Given the description of an element on the screen output the (x, y) to click on. 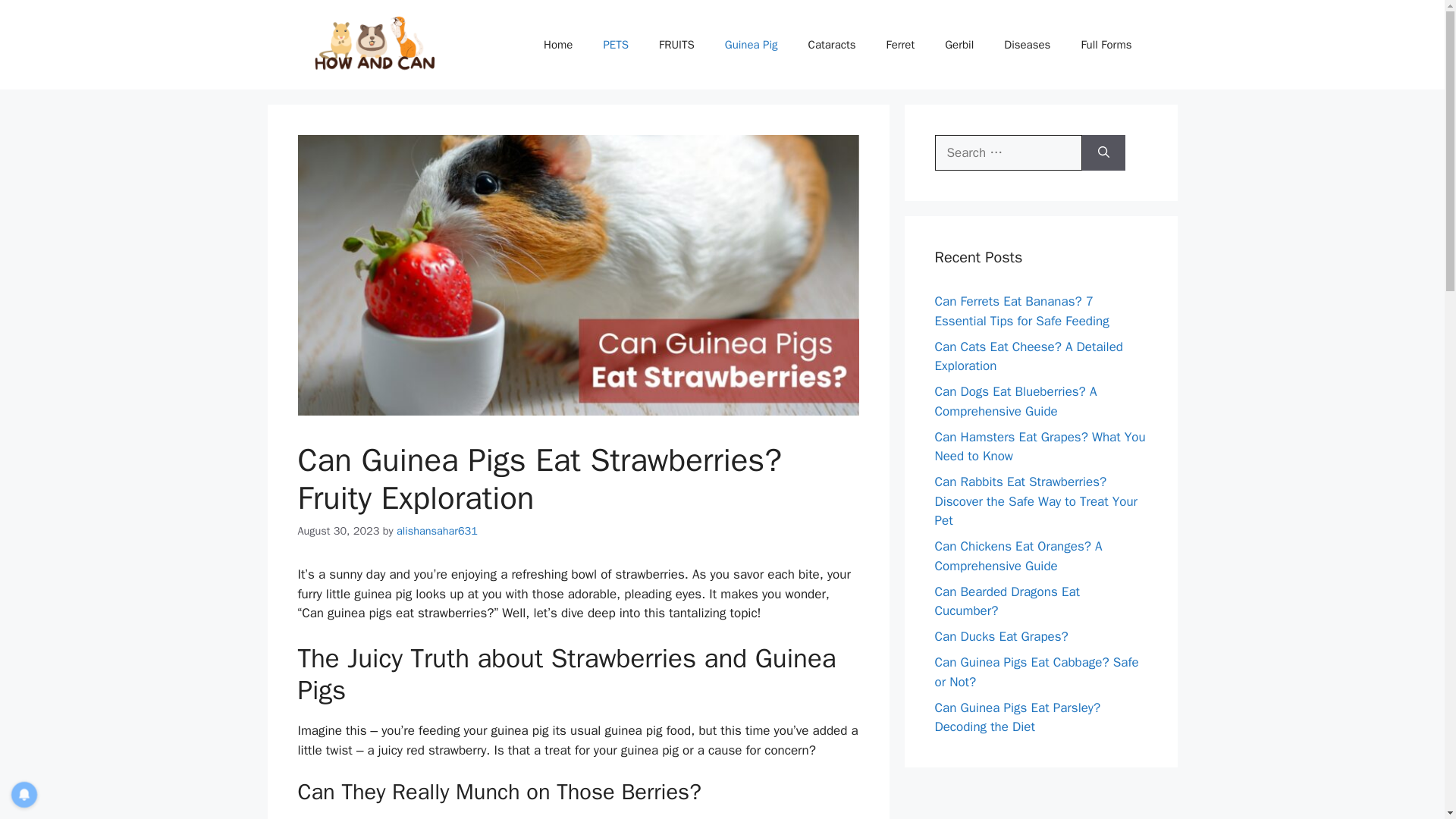
alishansahar631 (436, 530)
Can Bearded Dragons Eat Cucumber? (1006, 601)
Home (558, 44)
Full Forms (1106, 44)
Can Cats Eat Cheese? A Detailed Exploration (1028, 356)
PETS (615, 44)
 Webpushr (30, 765)
Gerbil (959, 44)
View all posts by alishansahar631 (436, 530)
Ferret (900, 44)
Can Guinea Pigs Eat Parsley? Decoding the Diet (1017, 717)
Can Dogs Eat Blueberries? A Comprehensive Guide (1015, 401)
Can Hamsters Eat Grapes? What You Need to Know (1039, 447)
Can Ducks Eat Grapes? (1000, 636)
